Given the description of an element on the screen output the (x, y) to click on. 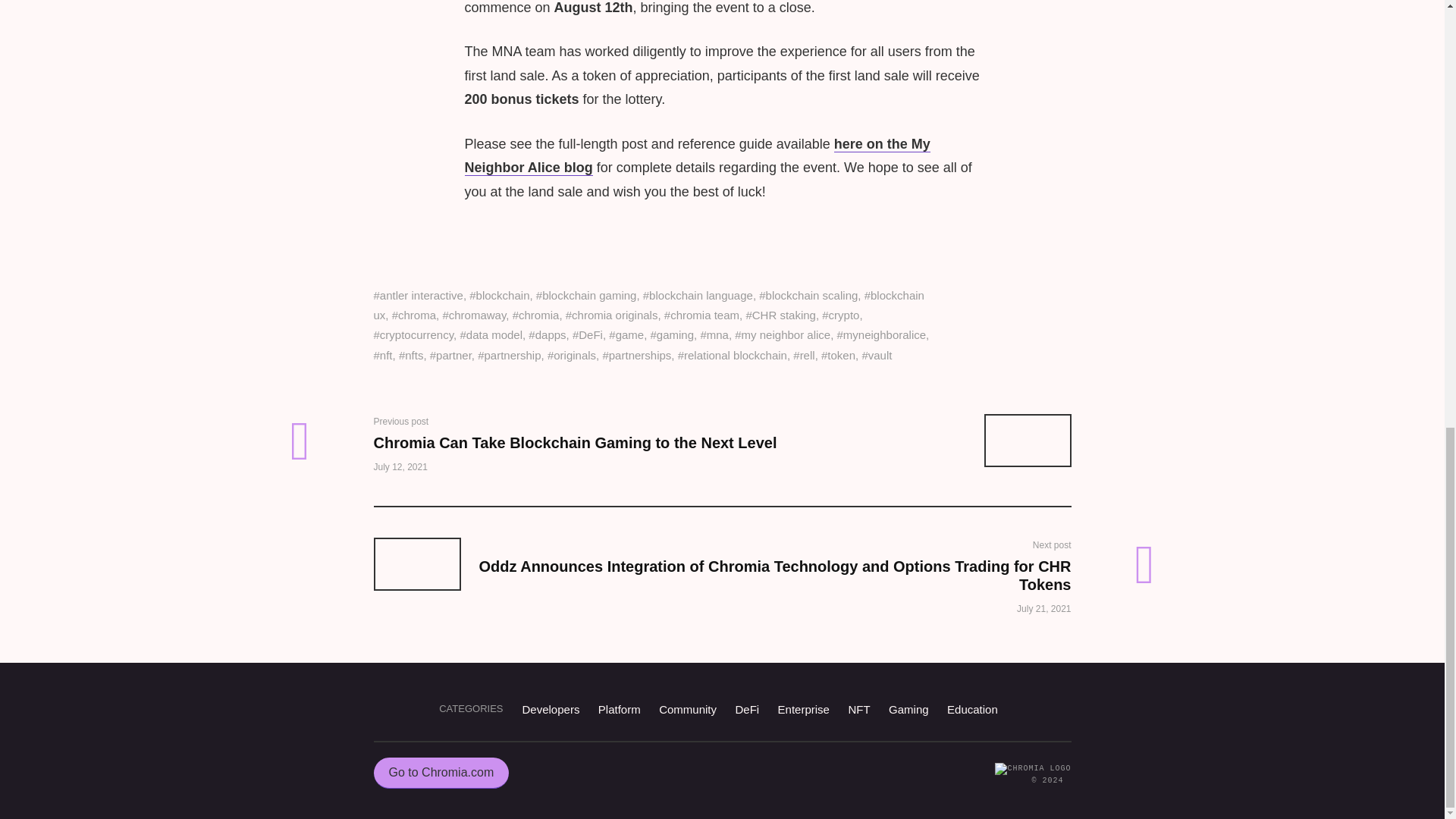
partnership (508, 355)
chromaway (473, 315)
crypto (840, 315)
here on the My Neighbor Alice blog (697, 156)
chromia team (701, 315)
partner (450, 355)
blockchain gaming (586, 295)
blockchain language (697, 295)
my neighbor alice (782, 335)
chroma (413, 315)
